Given the description of an element on the screen output the (x, y) to click on. 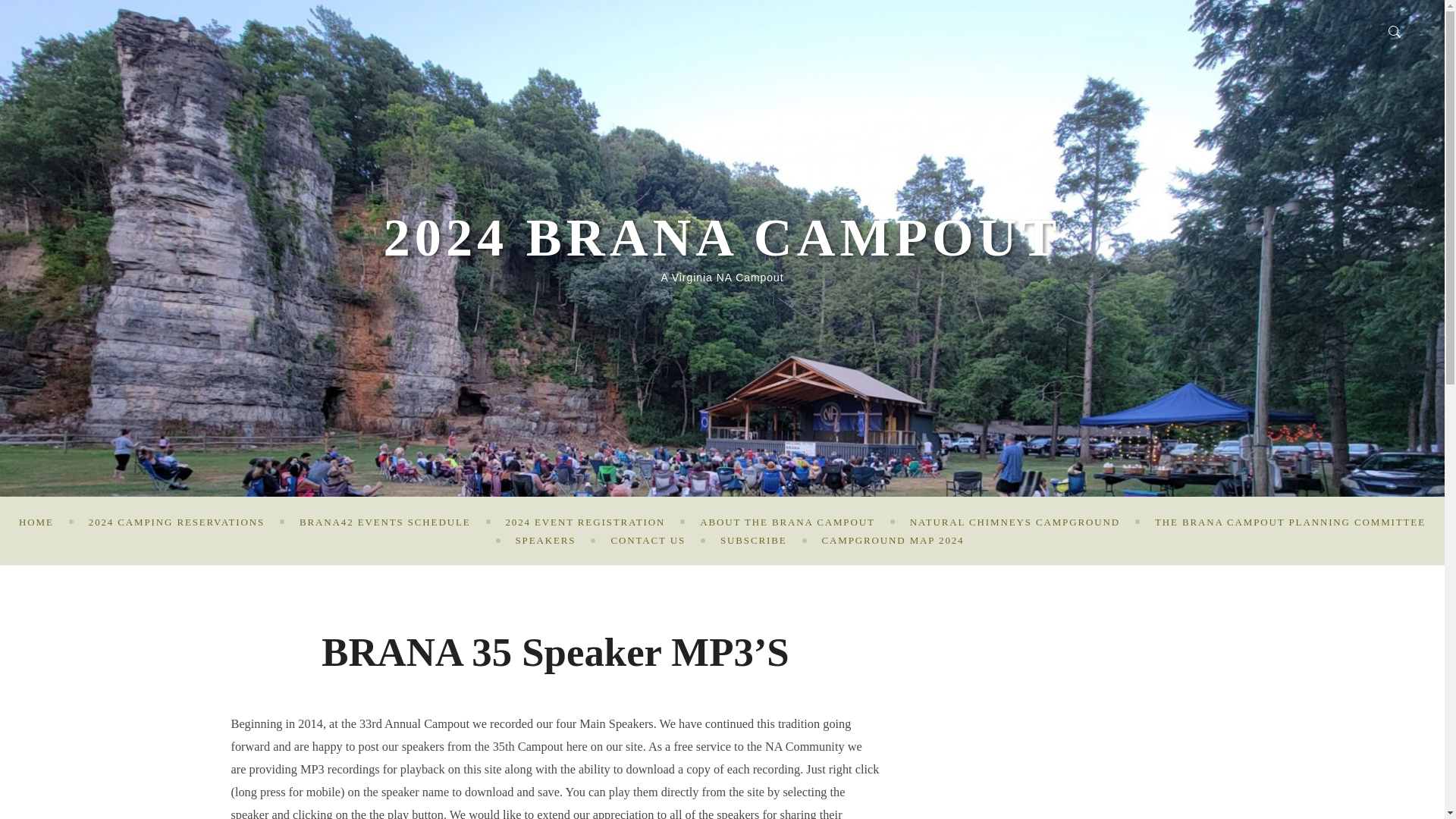
SPEAKERS (545, 540)
2024 EVENT REGISTRATION (585, 521)
NATURAL CHIMNEYS CAMPGROUND (1014, 521)
THE BRANA CAMPOUT PLANNING COMMITTEE (1289, 521)
BRANA42 EVENTS SCHEDULE (384, 521)
CONTACT US (647, 540)
HOME (35, 521)
SUBSCRIBE (753, 540)
2024 BRANA CAMPOUT (721, 237)
ABOUT THE BRANA CAMPOUT (787, 521)
2024 CAMPING RESERVATIONS (176, 521)
CAMPGROUND MAP 2024 (892, 540)
